Given the description of an element on the screen output the (x, y) to click on. 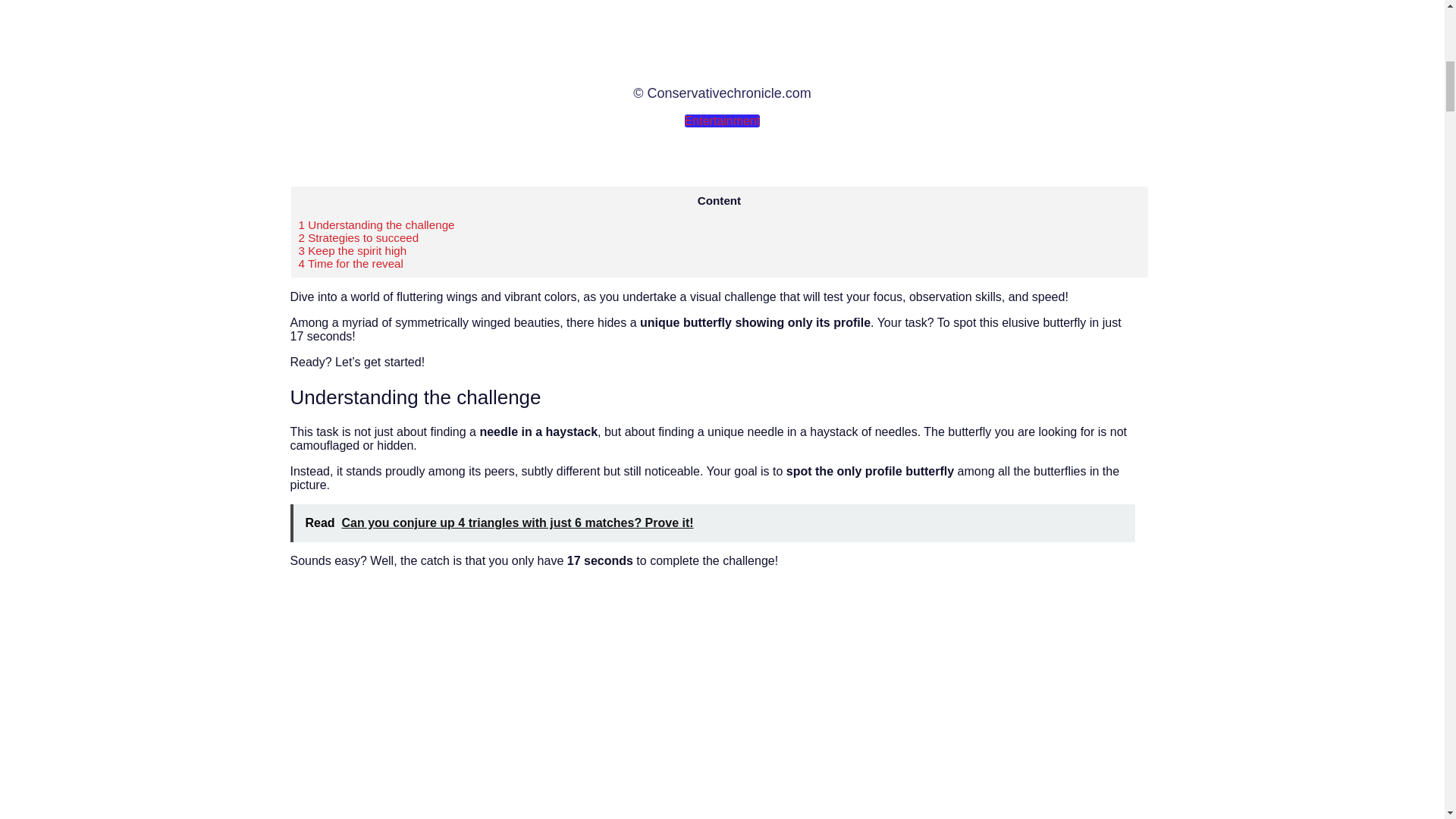
1 Understanding the challenge (376, 224)
3 Keep the spirit high (352, 250)
4 Time for the reveal (350, 263)
Entertainment (722, 120)
2 Strategies to succeed (358, 237)
